Given the description of an element on the screen output the (x, y) to click on. 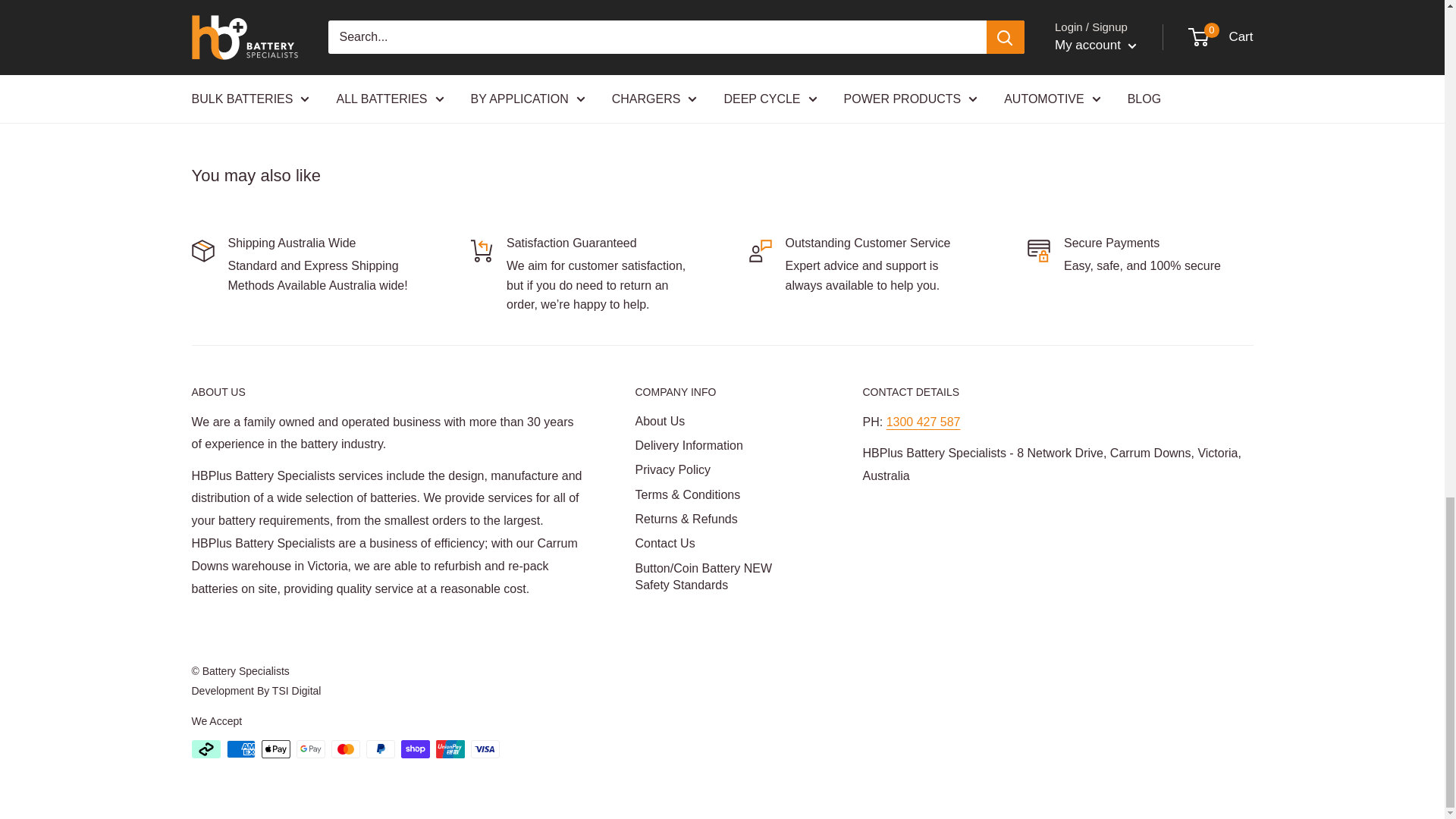
tel:1300 427 587 (923, 421)
